Given the description of an element on the screen output the (x, y) to click on. 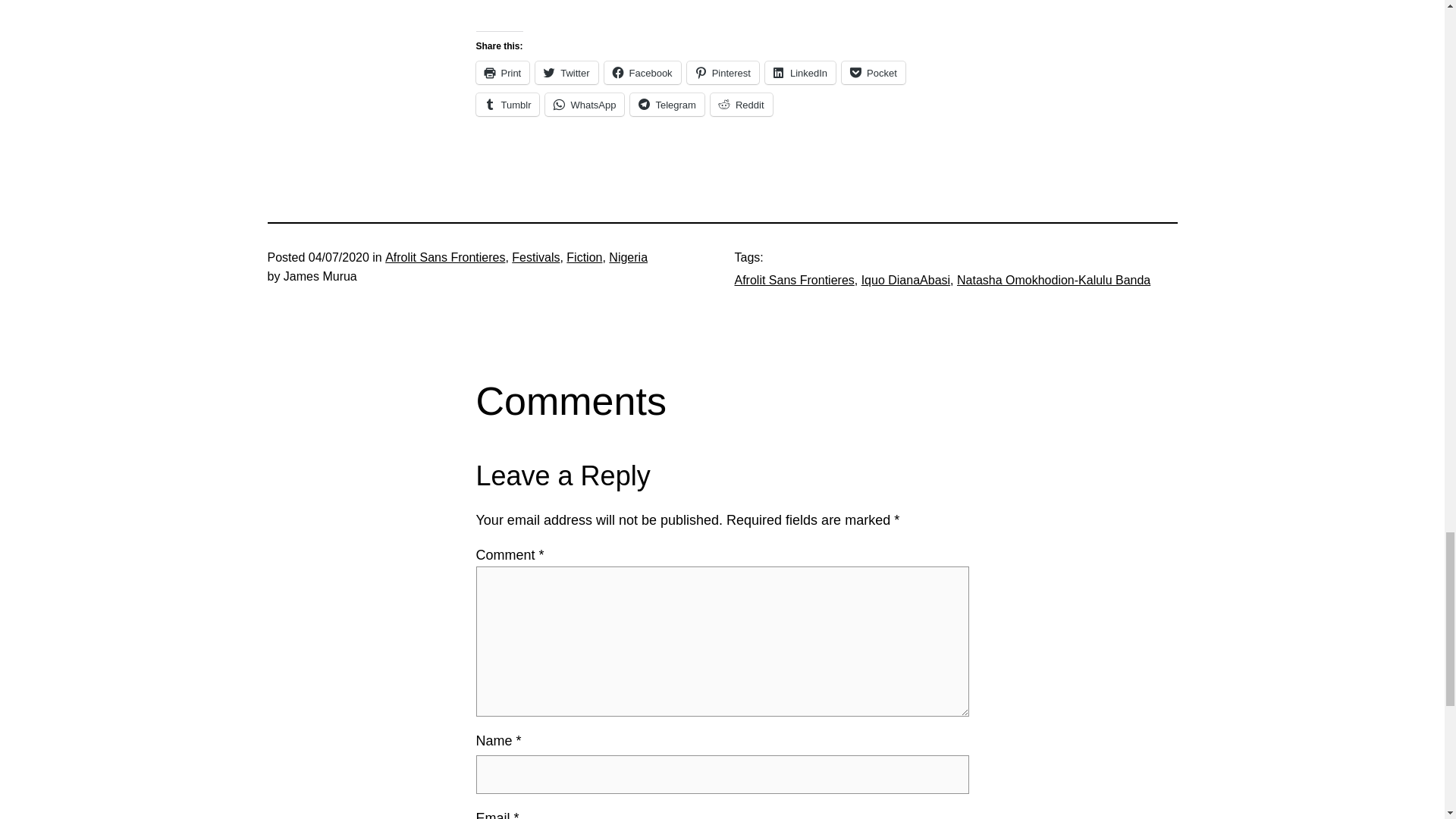
LinkedIn (800, 72)
Natasha Omokhodion-Kalulu Banda (1053, 279)
Festivals (535, 256)
Afrolit Sans Frontieres (793, 279)
WhatsApp (584, 104)
Fiction (584, 256)
Twitter (565, 72)
Pinterest (722, 72)
Iquo DianaAbasi (905, 279)
Click to share on LinkedIn (800, 72)
